Given the description of an element on the screen output the (x, y) to click on. 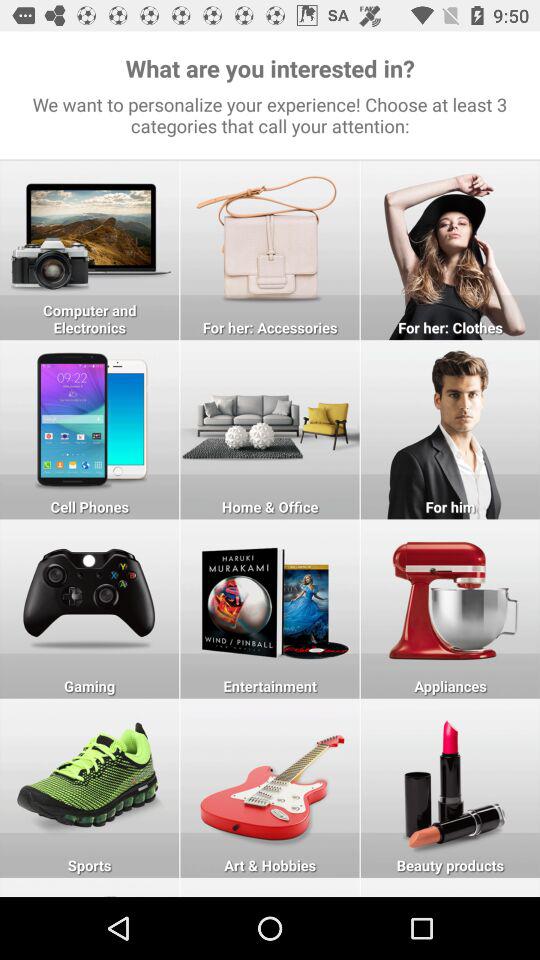
art and hobbies option (269, 887)
